Given the description of an element on the screen output the (x, y) to click on. 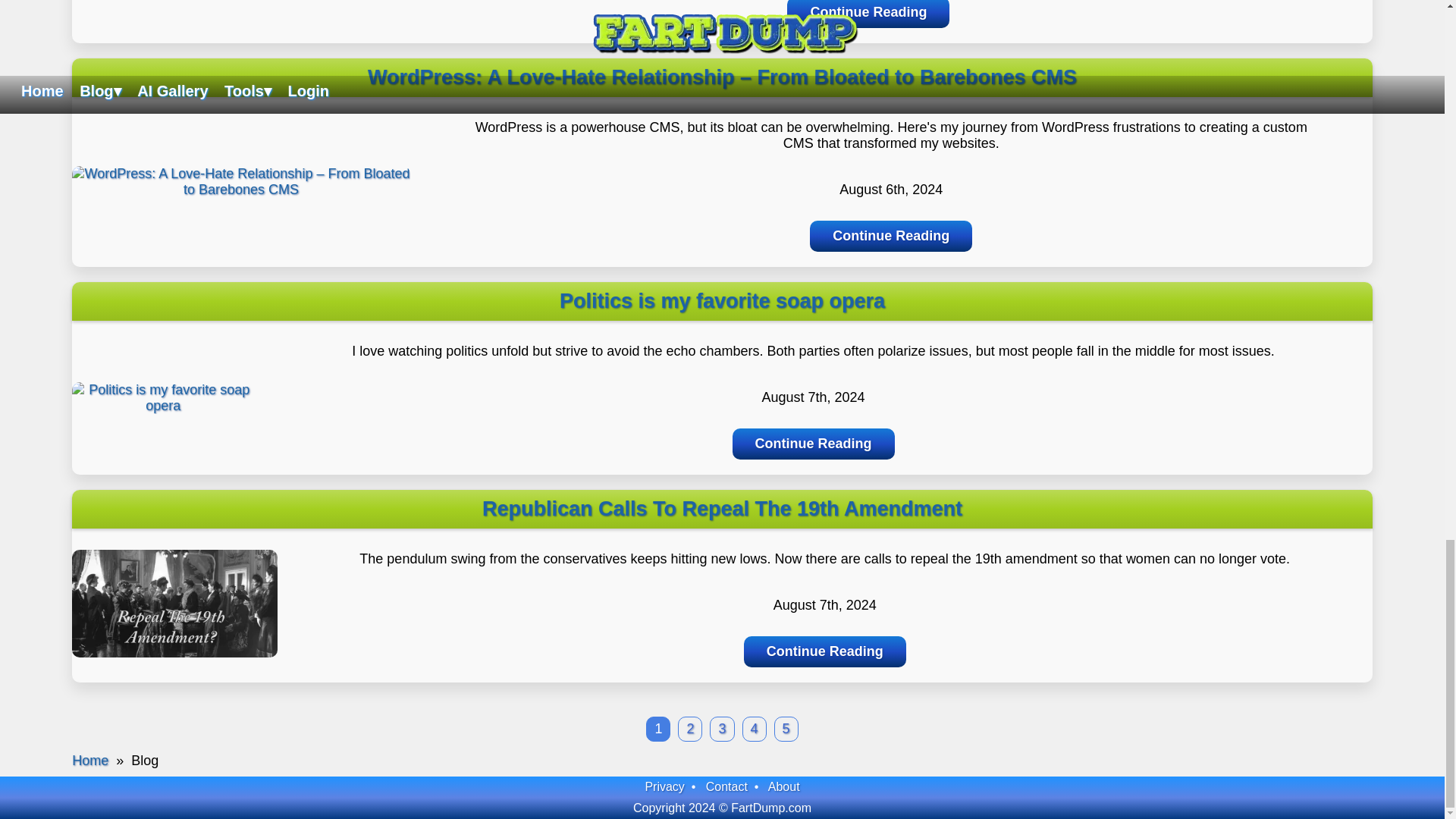
Republican Calls To Repeal The 19th Amendment (173, 660)
Continue Reading (868, 13)
Politics is my favorite soap opera (162, 405)
Continue Reading (824, 651)
Continue Reading (890, 235)
Continue Reading (813, 443)
